Given the description of an element on the screen output the (x, y) to click on. 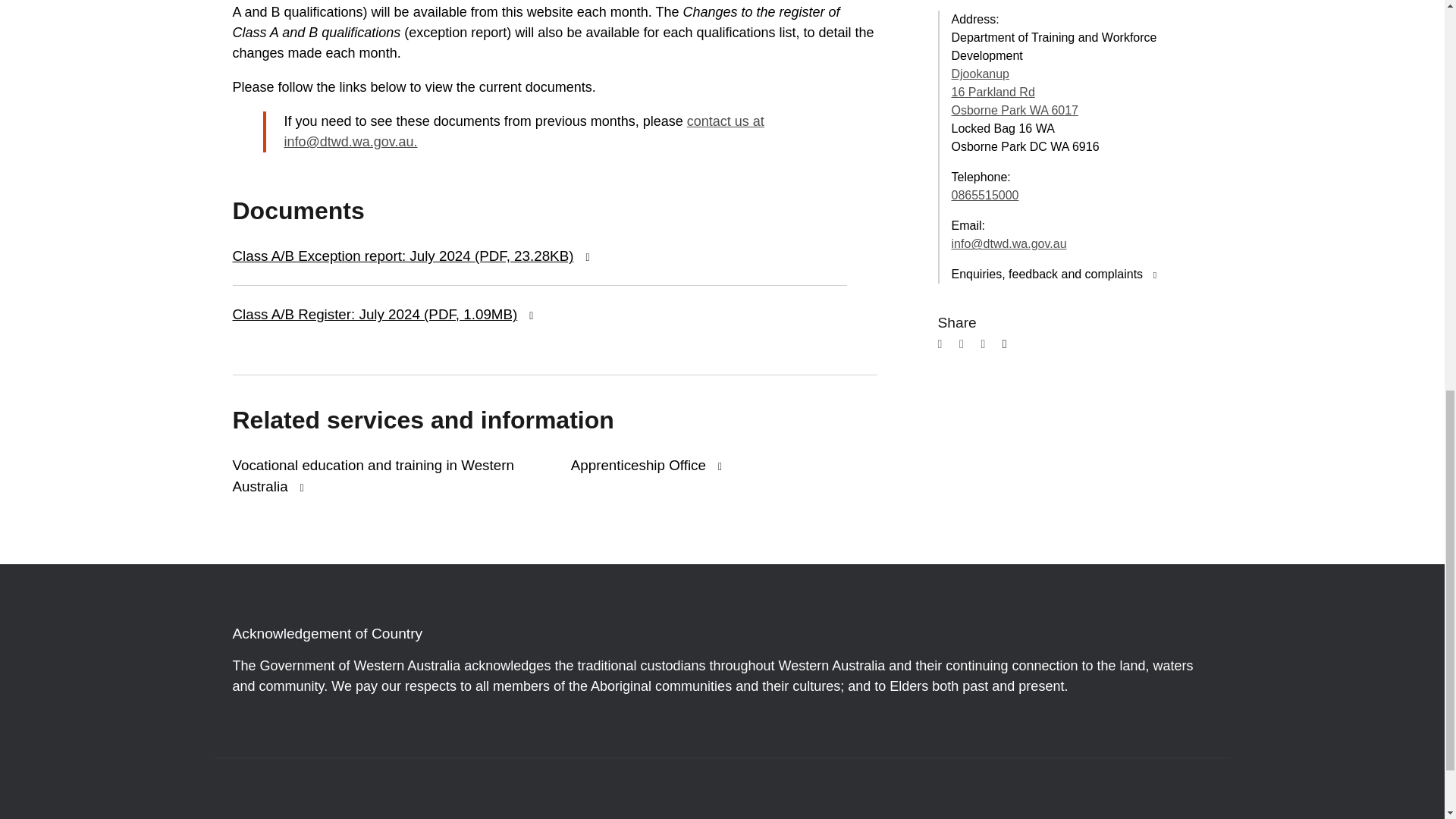
Share this page with LinkedIn (988, 347)
Share this page with your Facebook account (946, 347)
